Given the description of an element on the screen output the (x, y) to click on. 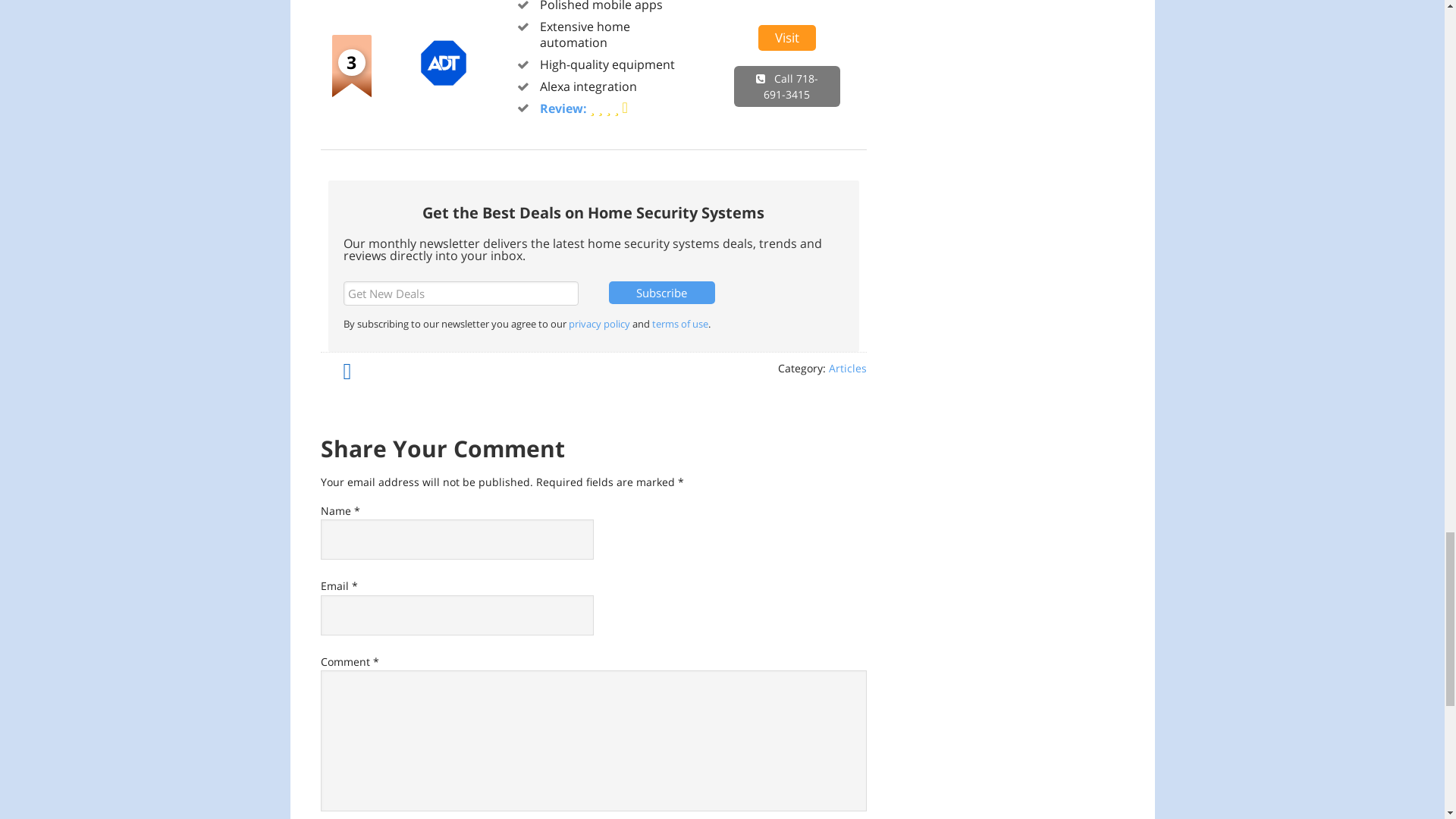
Subscribe (661, 292)
Order ADT (443, 82)
